Given the description of an element on the screen output the (x, y) to click on. 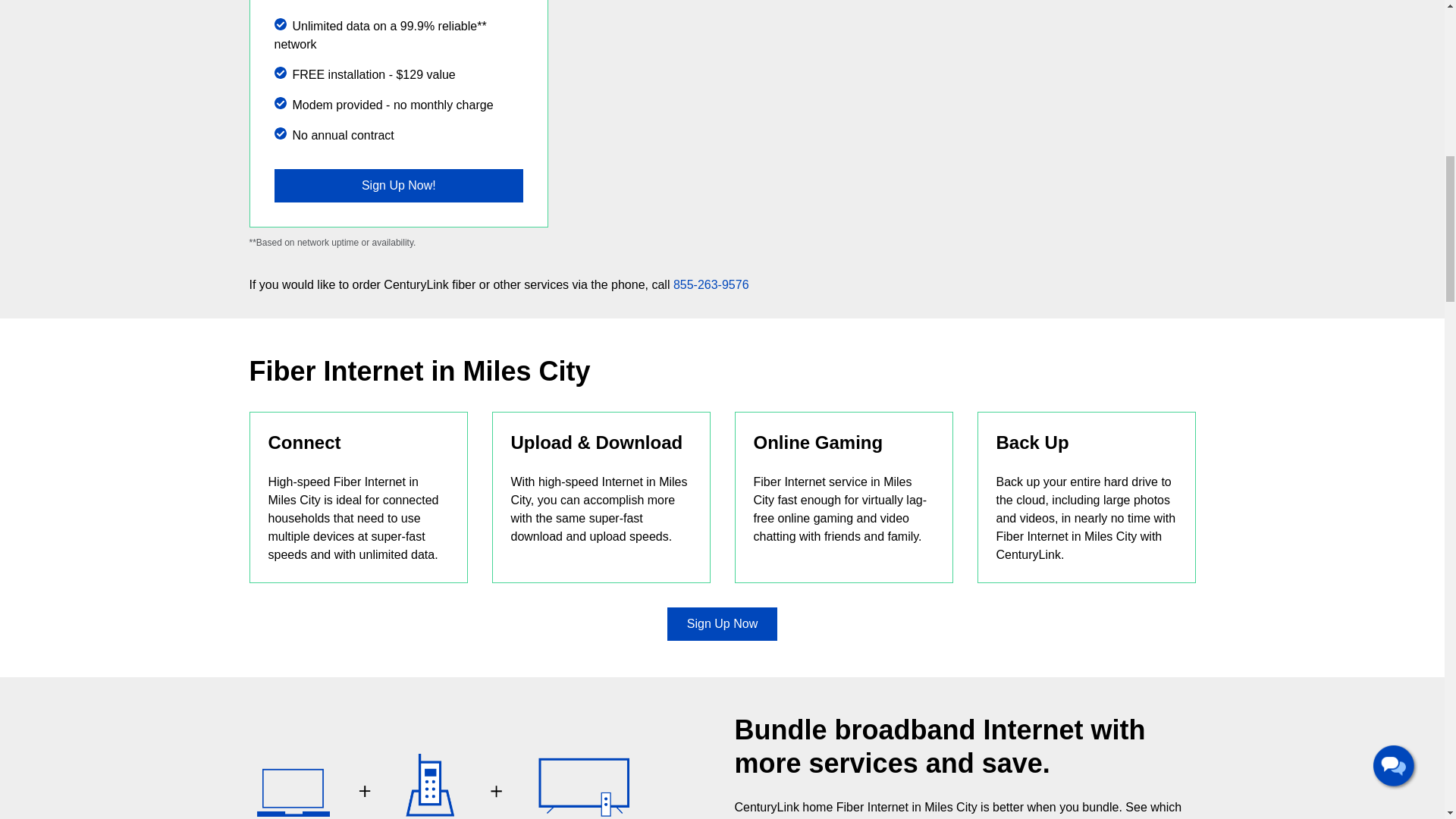
855-263-9576 (710, 284)
Sign Up Now! (399, 185)
Sign Up Now (721, 623)
